Given the description of an element on the screen output the (x, y) to click on. 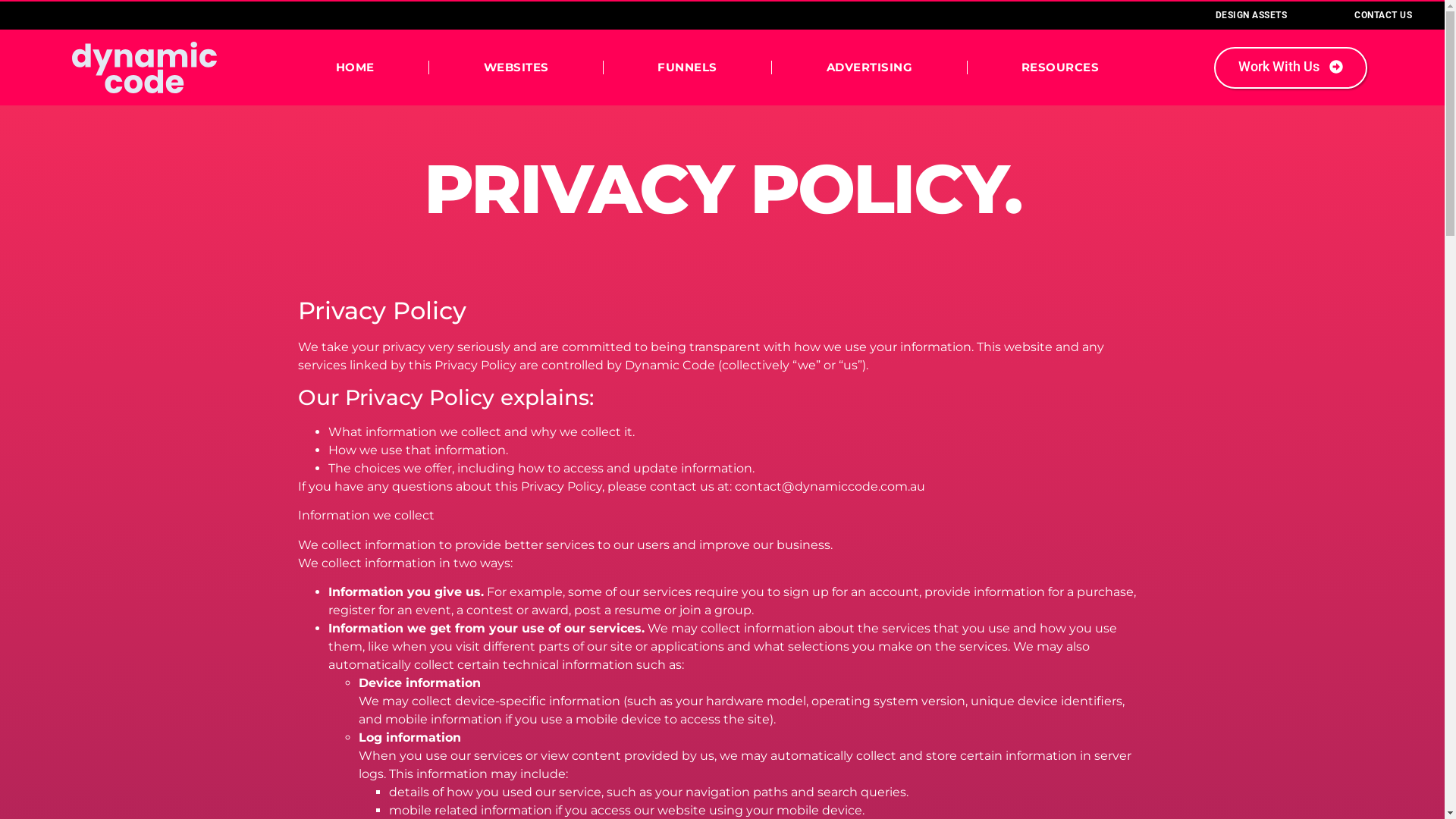
RESOURCES Element type: text (1059, 67)
WEBSITES Element type: text (516, 67)
DESIGN ASSETS Element type: text (1251, 15)
HOME Element type: text (354, 67)
CONTACT US Element type: text (1382, 15)
Work With Us Element type: text (1290, 67)
FUNNELS Element type: text (687, 67)
ADVERTISING Element type: text (869, 67)
